Given the description of an element on the screen output the (x, y) to click on. 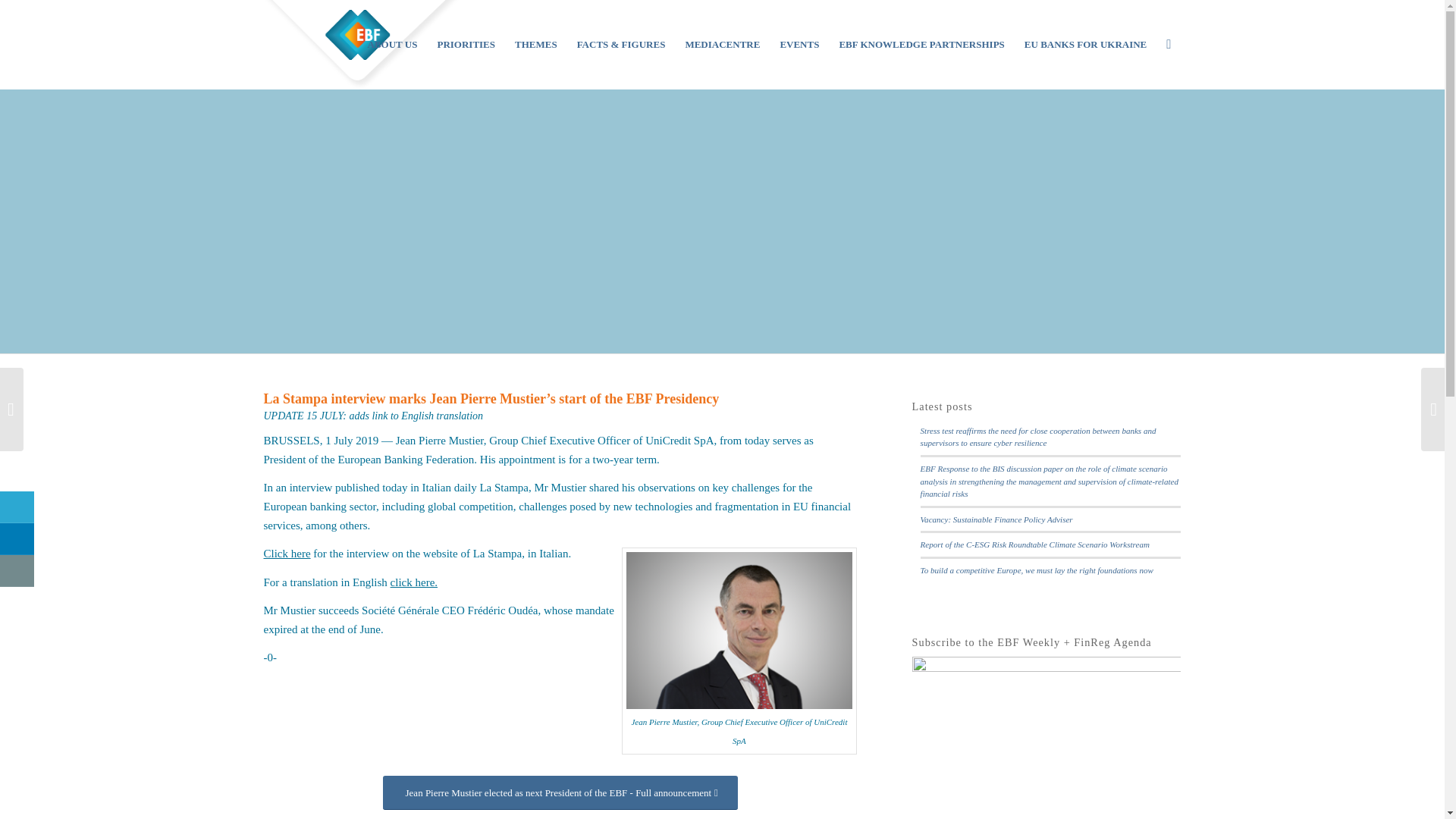
MEDIACENTRE (722, 44)
Vacancy: Sustainable Finance Policy Adviser (996, 519)
Share On Linkedin (16, 539)
Share On Twitter (16, 507)
EBF KNOWLEDGE PARTNERSHIPS (920, 44)
